Given the description of an element on the screen output the (x, y) to click on. 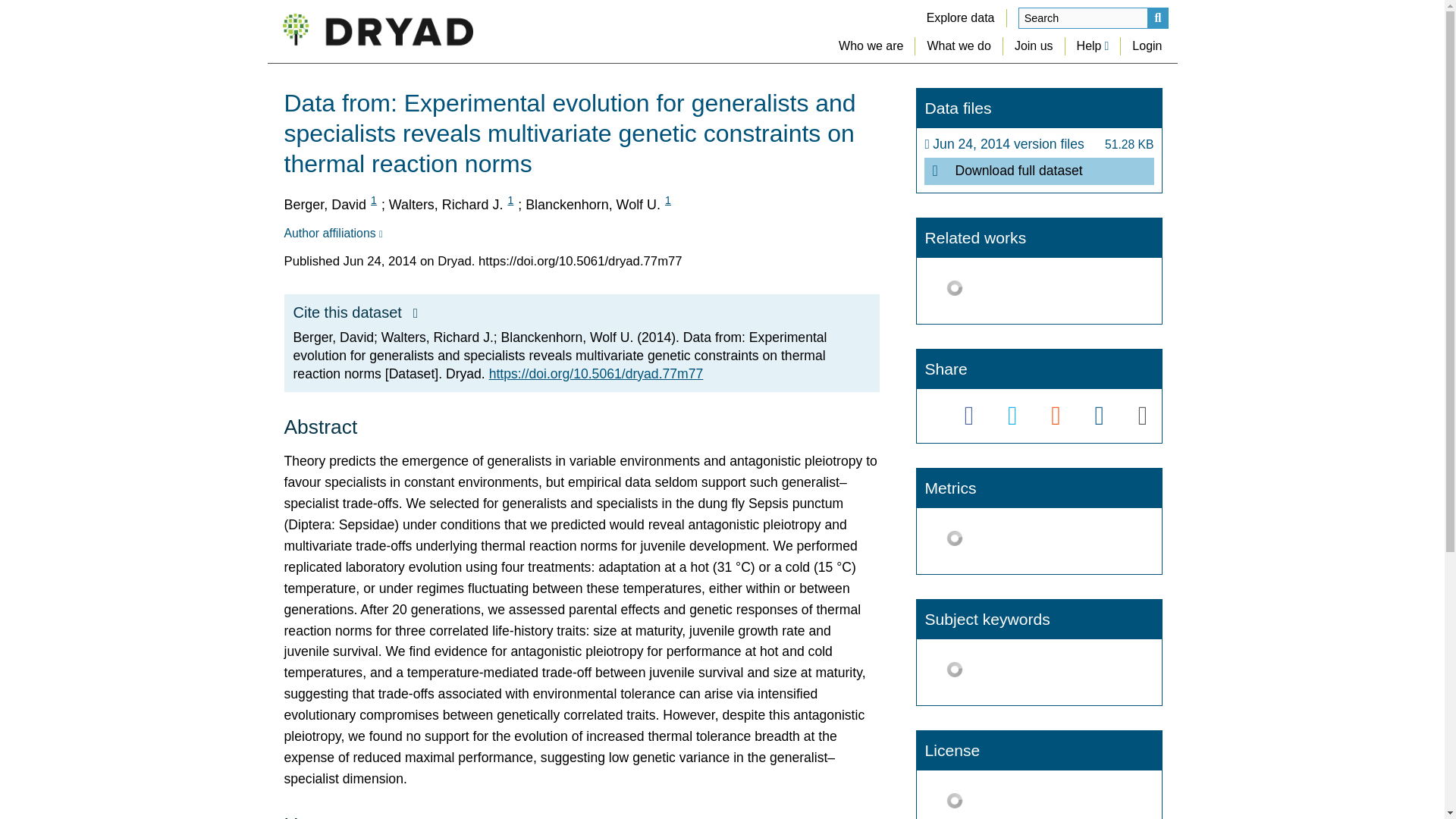
Author affiliations (332, 233)
Who we are (870, 45)
